Given the description of an element on the screen output the (x, y) to click on. 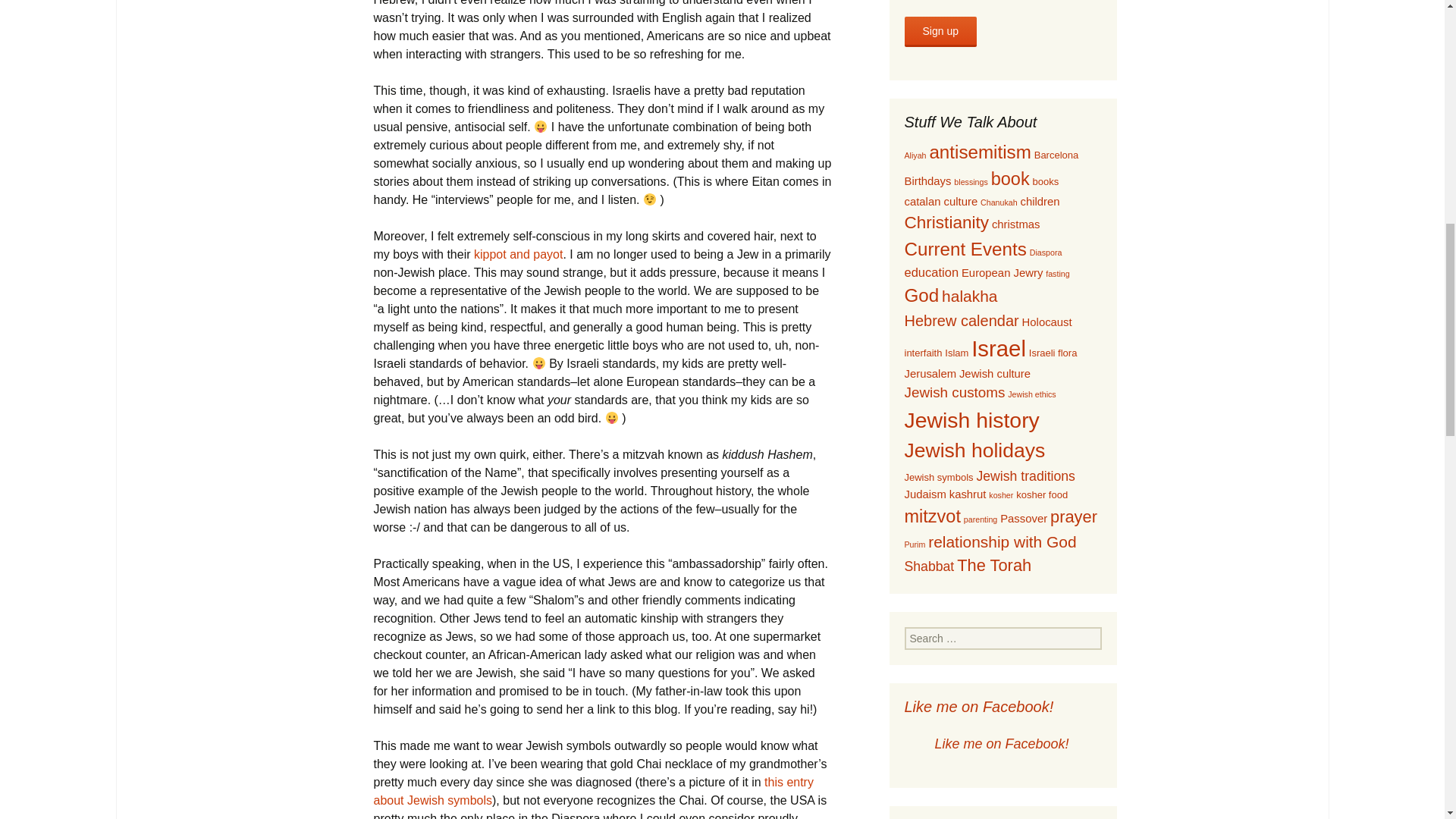
Links in the Chain: On Educating Children (518, 254)
Jewish Symbols, or: A Rummage Through My Jewelry Box (592, 790)
Sign up (939, 31)
Sign up (939, 31)
Aliyah (915, 154)
this entry about Jewish symbols (592, 790)
book (1010, 178)
blessings (970, 181)
kippot and payot (518, 254)
books (1045, 181)
